Given the description of an element on the screen output the (x, y) to click on. 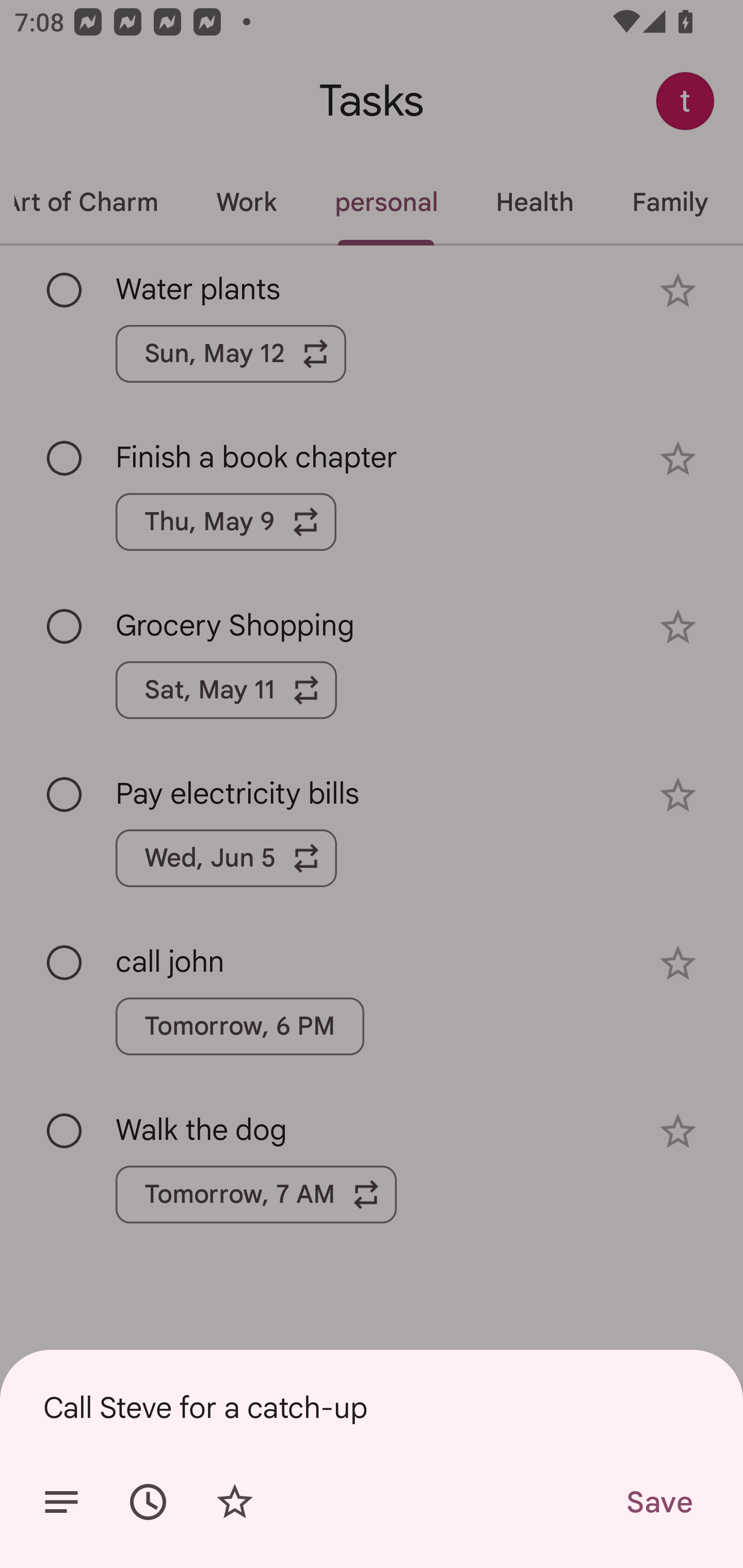
Call Steve for a catch-up (371, 1407)
Save (659, 1501)
Add details (60, 1501)
Set date/time (147, 1501)
Add star (234, 1501)
